Given the description of an element on the screen output the (x, y) to click on. 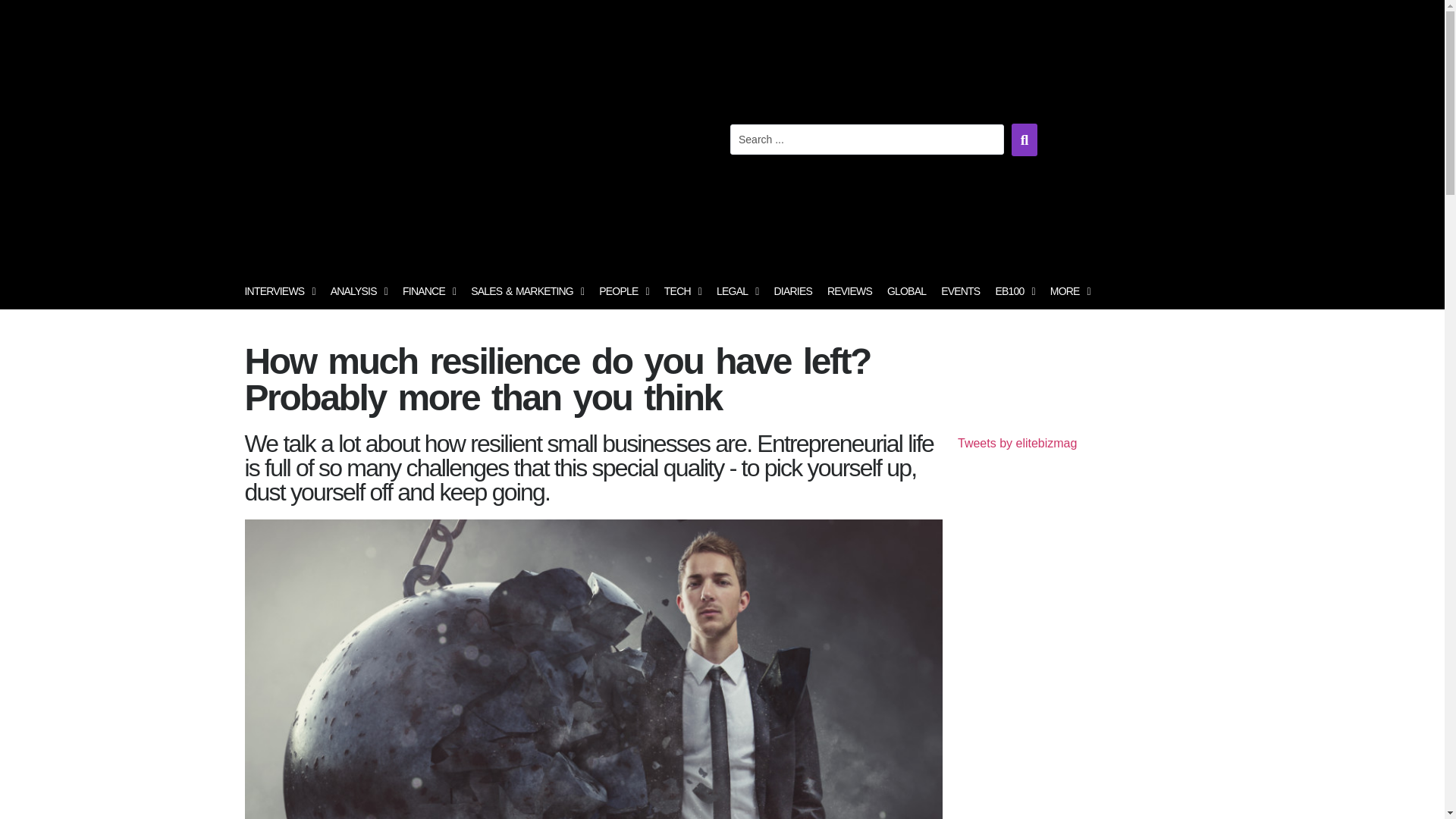
PEOPLE (623, 291)
ANALYSIS (358, 291)
INTERVIEWS (278, 291)
FINANCE (428, 291)
TECH (682, 291)
